Given the description of an element on the screen output the (x, y) to click on. 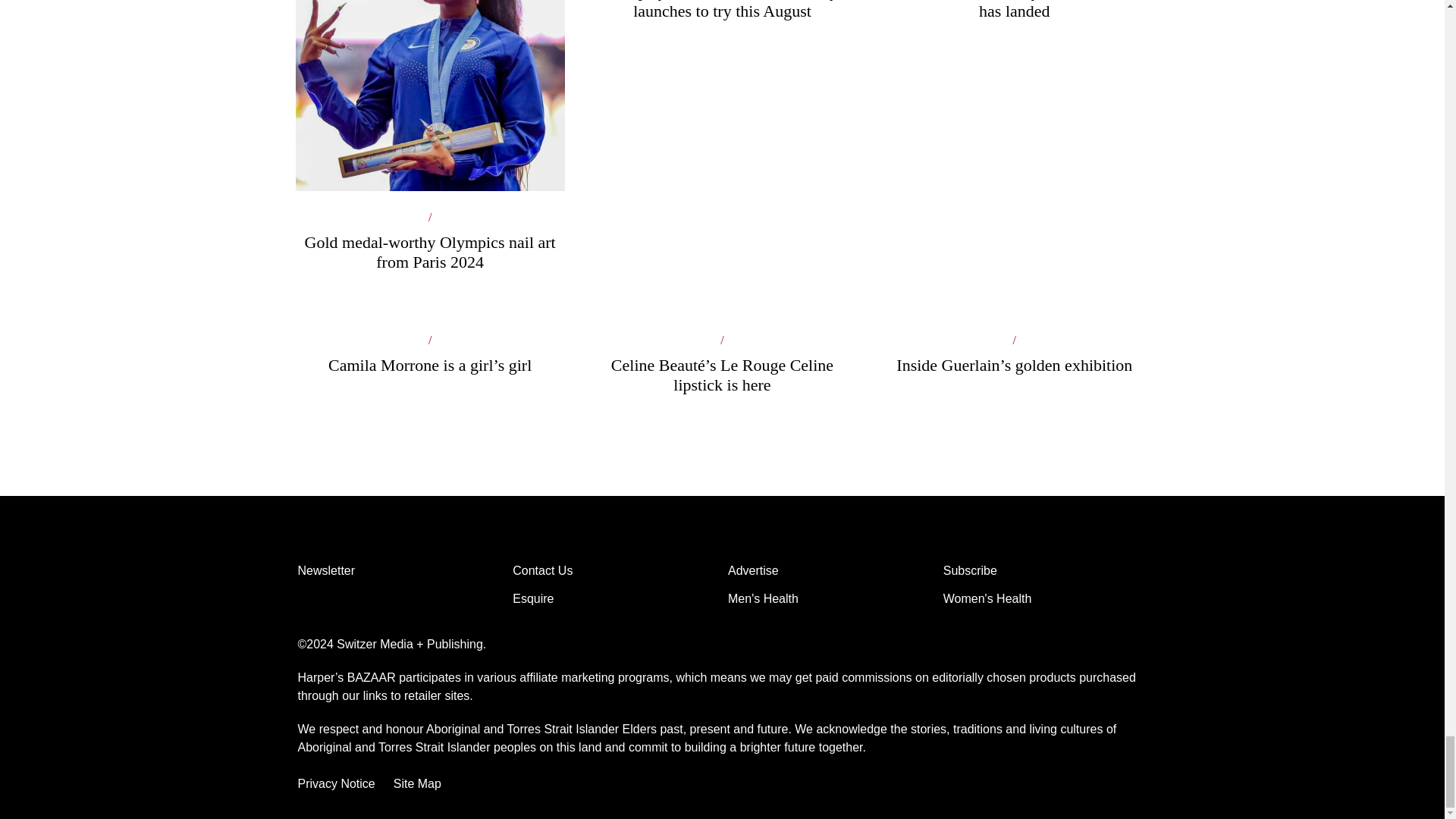
The latest Le Labo City Exclusive scent has landed (1013, 28)
Newsletter (398, 571)
Gold medal-worthy Olympics nail art from Paris 2024 (429, 160)
